Given the description of an element on the screen output the (x, y) to click on. 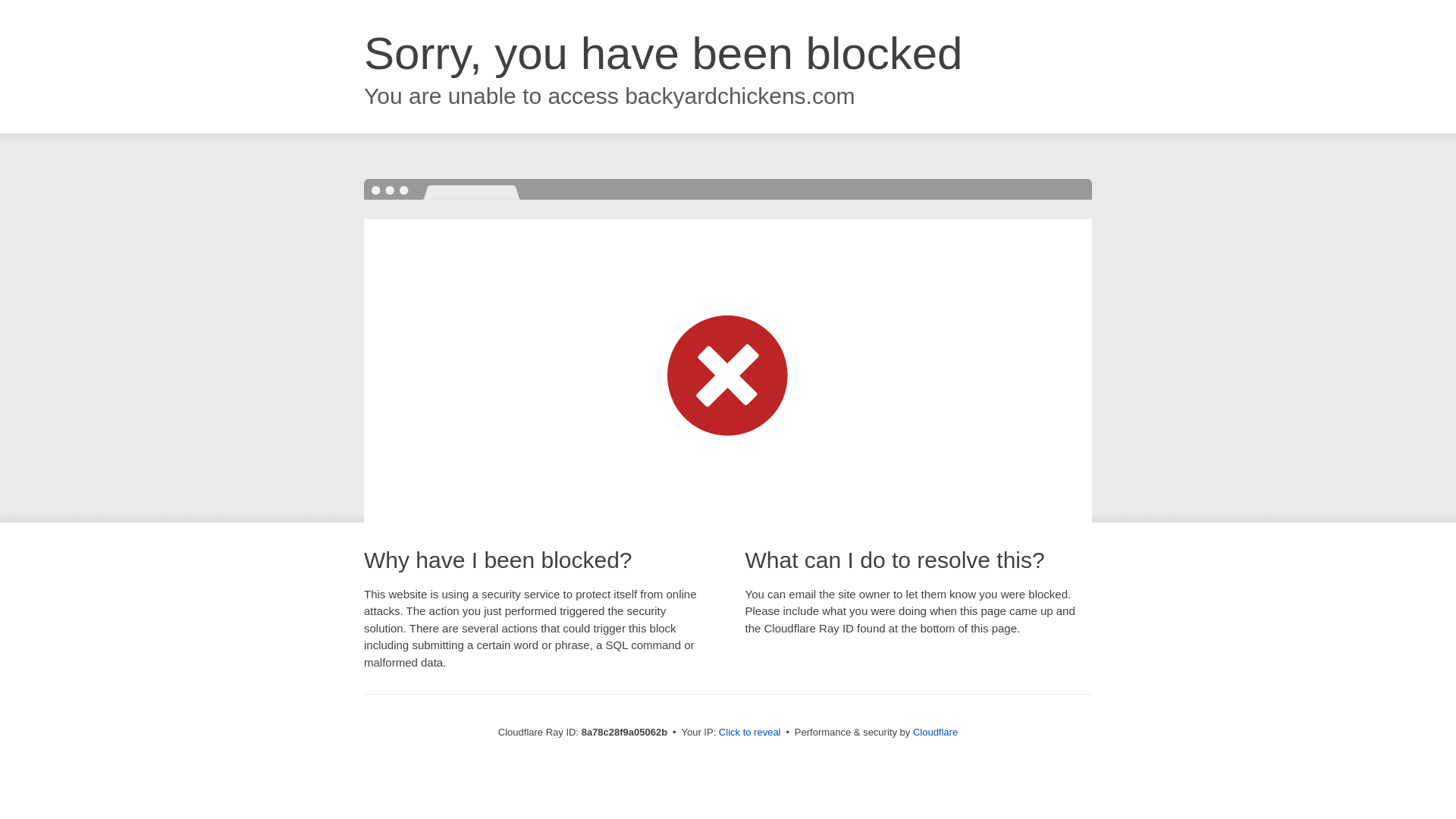
Cloudflare (935, 731)
Click to reveal (749, 732)
